Given the description of an element on the screen output the (x, y) to click on. 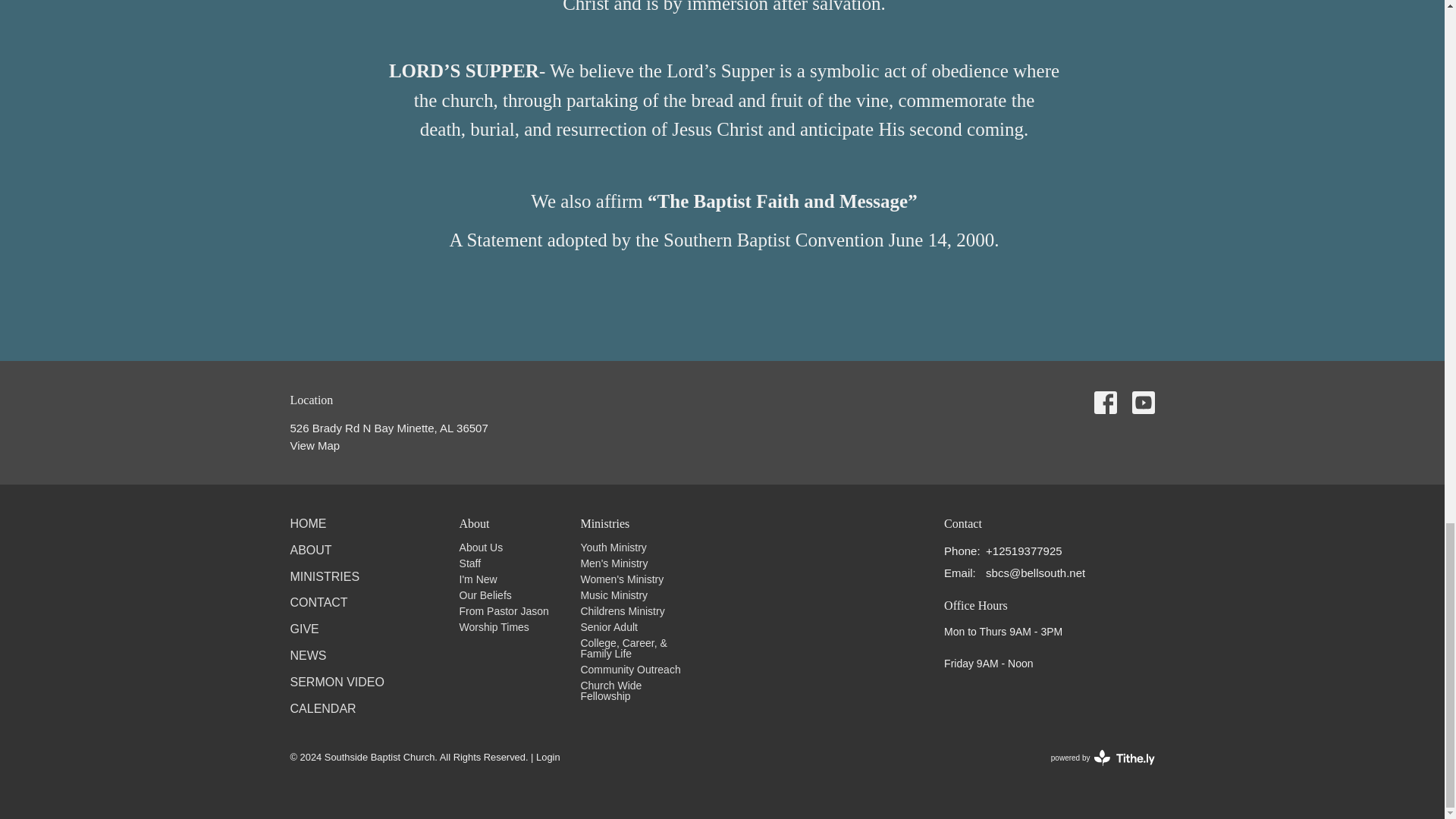
Senior Adult (608, 626)
NEWS (307, 655)
GIVE (303, 628)
CONTACT (318, 602)
ABOUT (310, 549)
View Map (314, 445)
translation missing: en.ui.email (957, 572)
Staff (470, 563)
CALENDAR (322, 707)
MINISTRIES (324, 576)
